Given the description of an element on the screen output the (x, y) to click on. 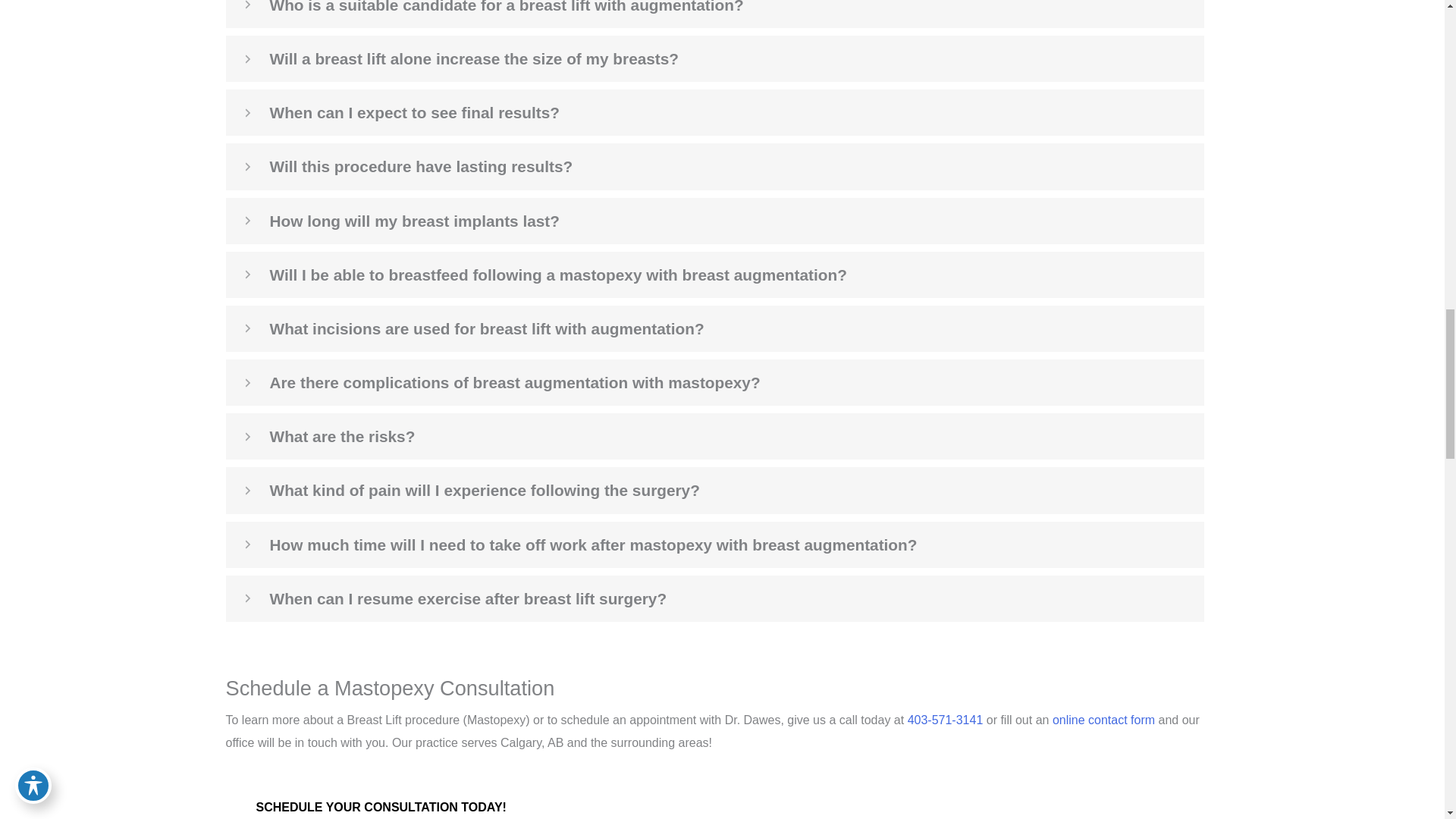
Click Here (381, 803)
